Given the description of an element on the screen output the (x, y) to click on. 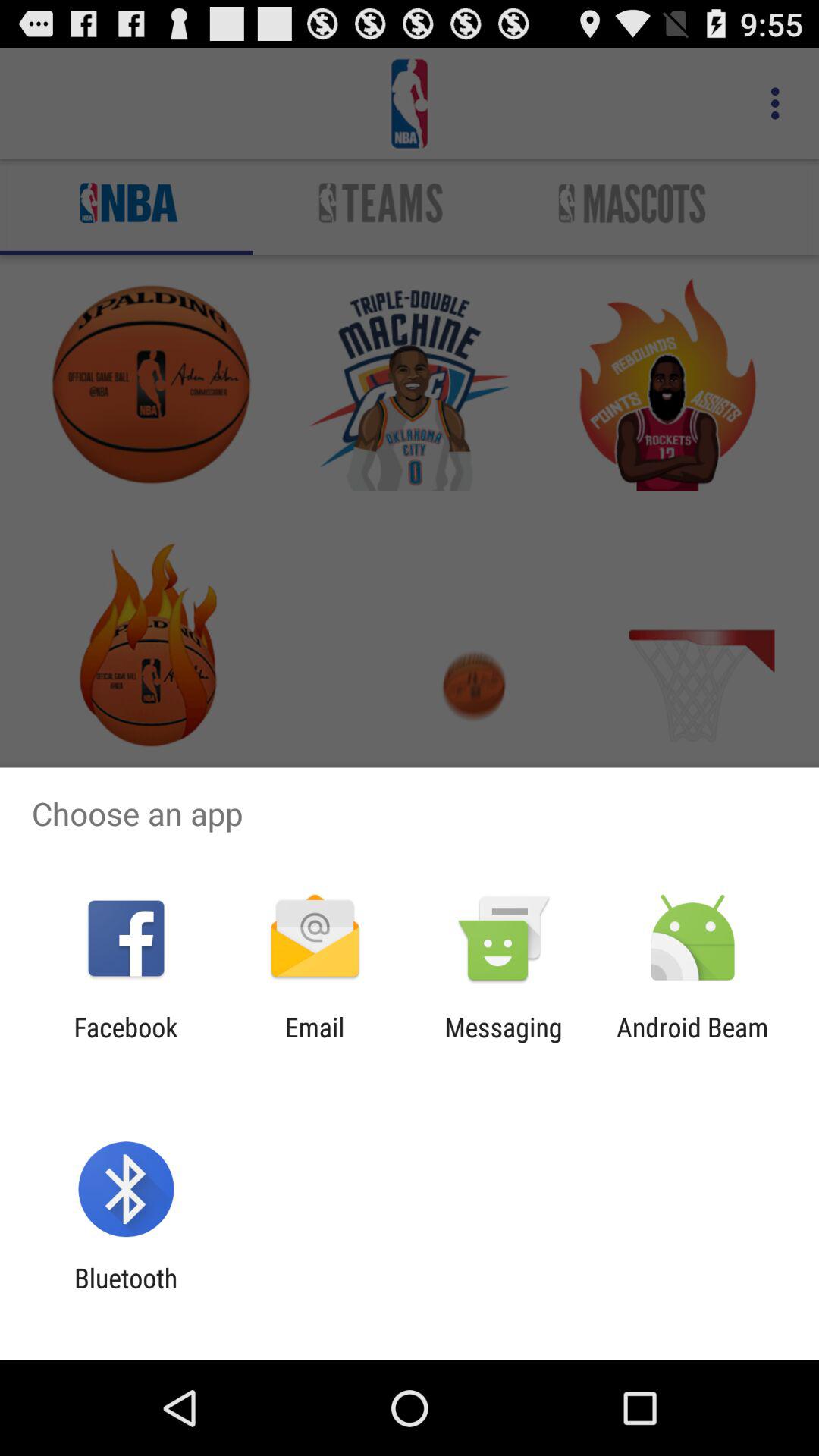
launch the icon next to email app (503, 1042)
